Given the description of an element on the screen output the (x, y) to click on. 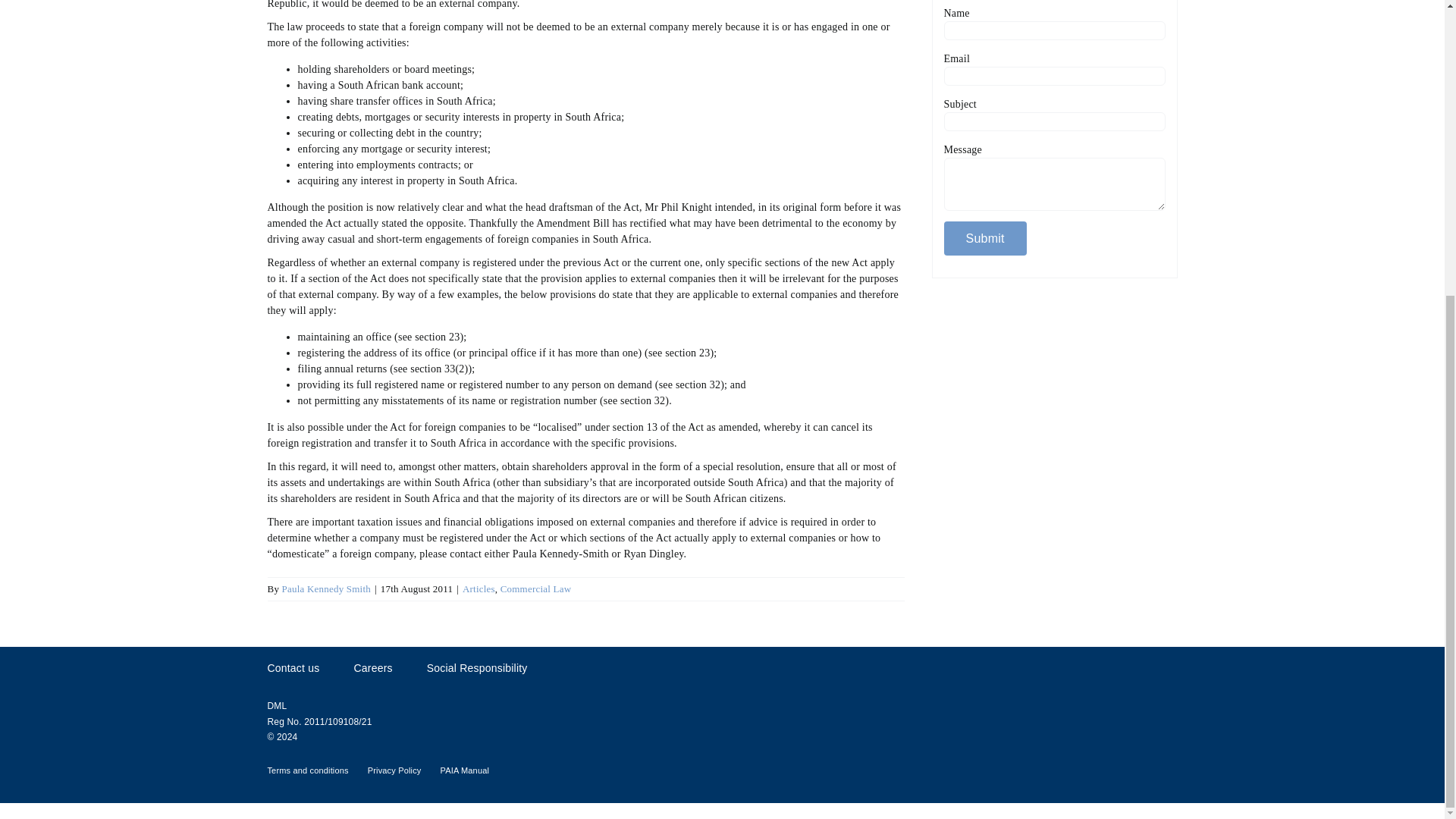
Submit (984, 238)
Articles (479, 588)
Posts by Paula Kennedy Smith (326, 588)
Paula Kennedy Smith (326, 588)
Commercial Law (536, 588)
Submit (984, 238)
